Given the description of an element on the screen output the (x, y) to click on. 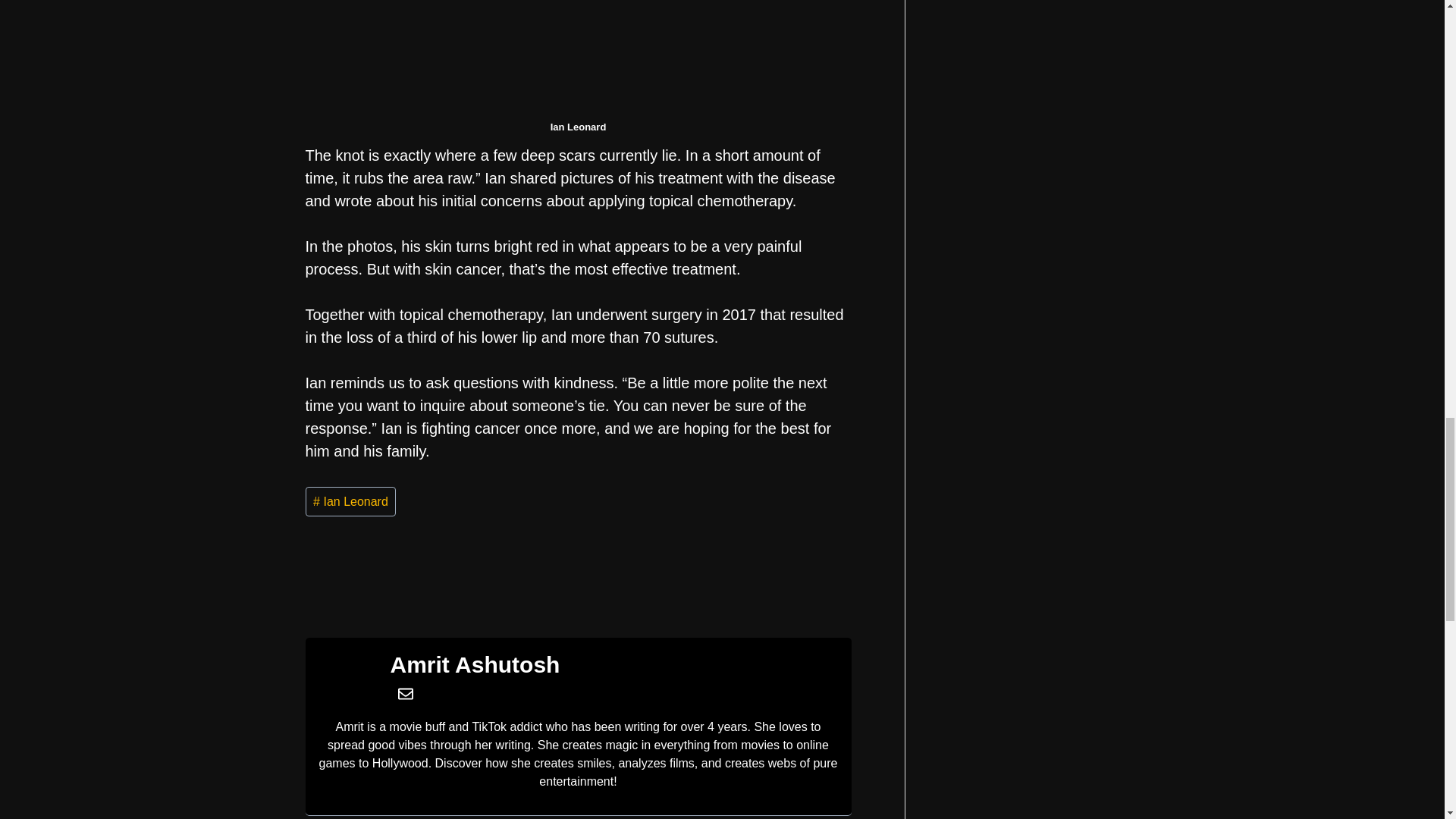
Ian Leonard (350, 501)
